Given the description of an element on the screen output the (x, y) to click on. 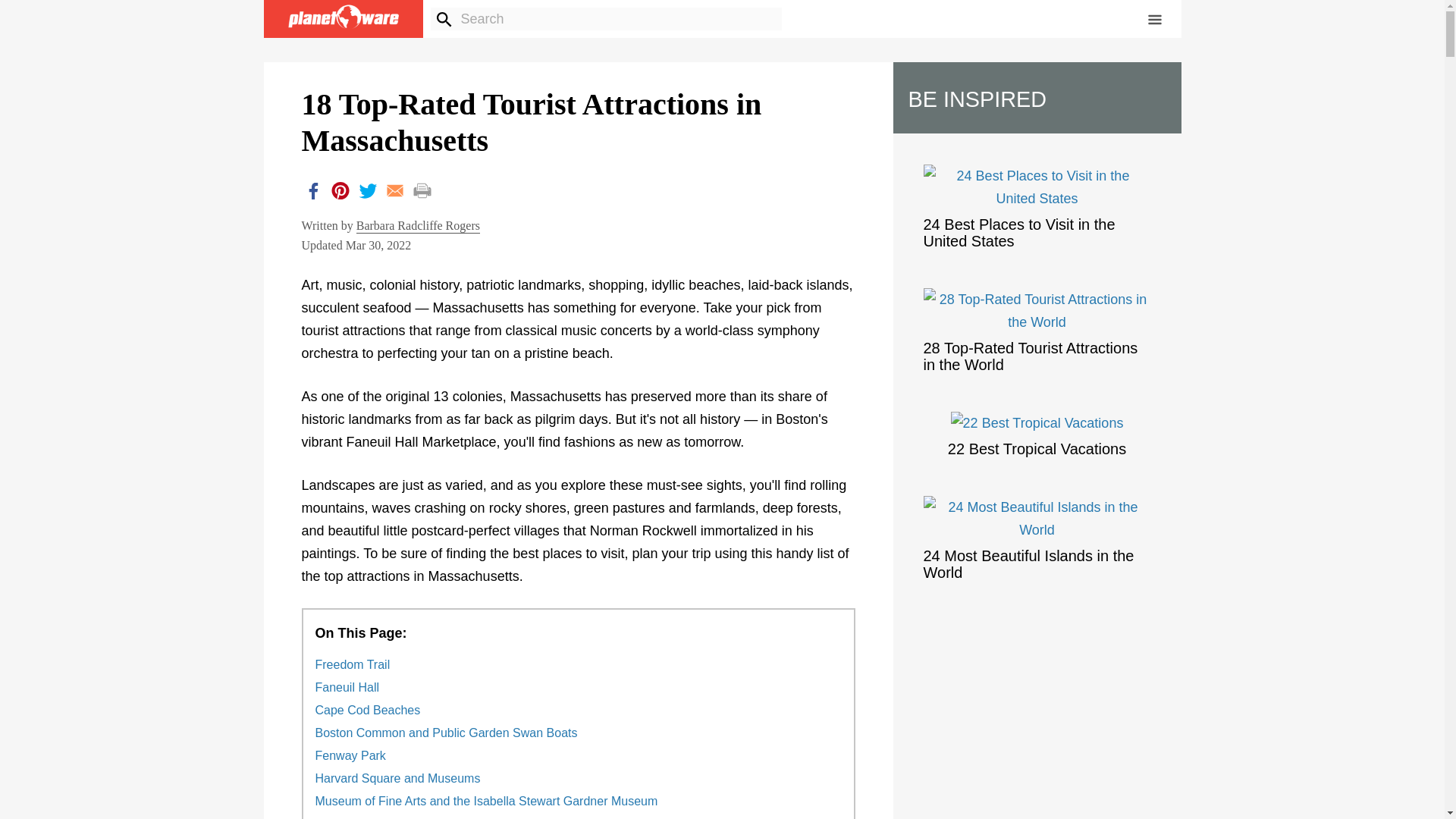
Faneuil Hall (346, 687)
Cape Cod Beaches (367, 710)
Museum of Fine Arts and the Isabella Stewart Gardner Museum (486, 801)
Fenway Park (350, 755)
Boston Common and Public Garden Swan Boats (446, 733)
Harvard Square and Museums (397, 778)
Freedom Trail (352, 664)
Barbara Radcliffe Rogers (418, 226)
